Given the description of an element on the screen output the (x, y) to click on. 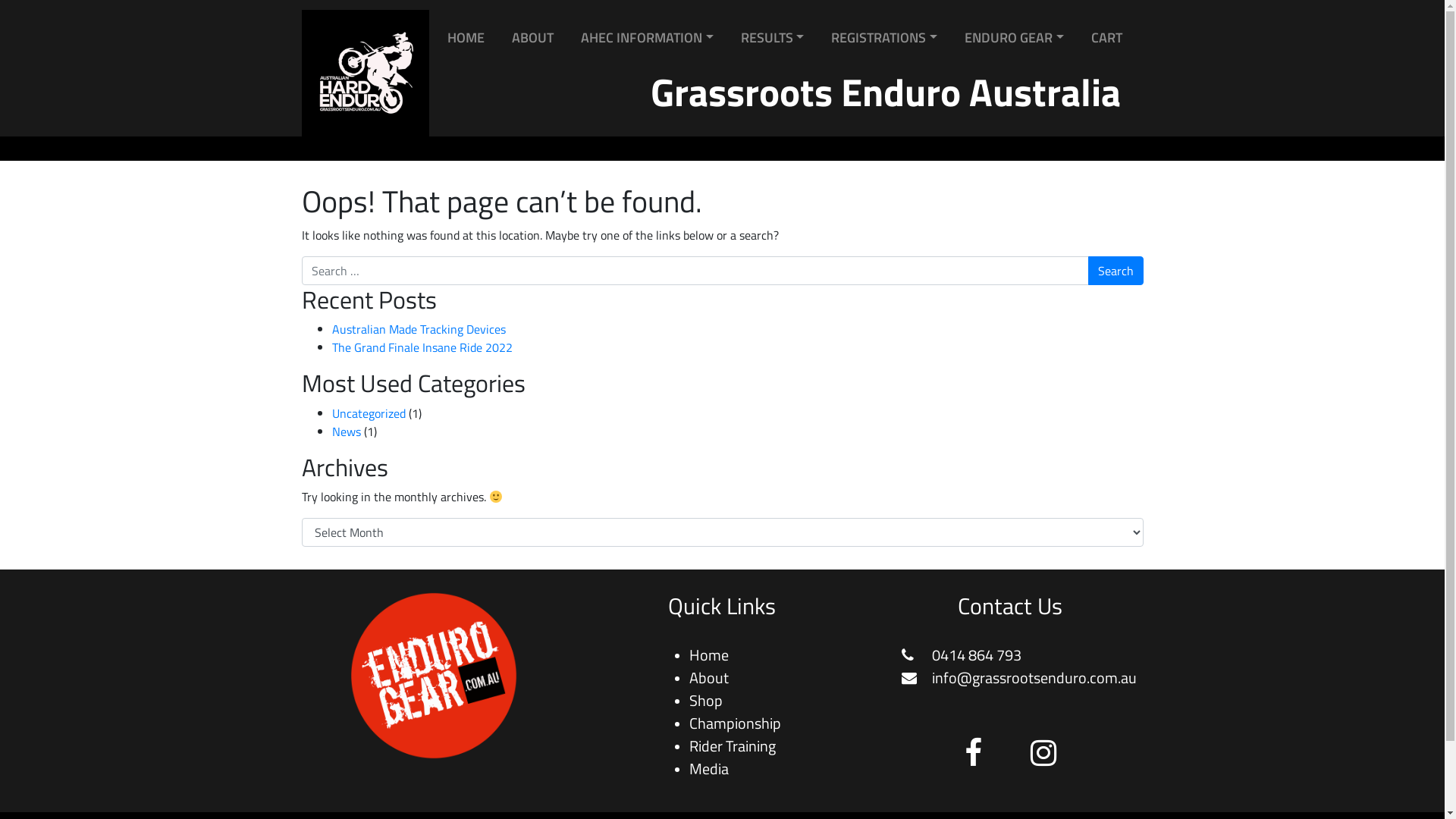
ABOUT Element type: text (532, 37)
RESULTS Element type: text (772, 37)
ENDURO GEAR Element type: text (1014, 37)
About Element type: text (708, 677)
Uncategorized Element type: text (368, 413)
AHEC INFORMATION Element type: text (646, 37)
Search Element type: text (1114, 270)
Media Element type: text (708, 768)
Championship Element type: text (735, 722)
The Grand Finale Insane Ride 2022 Element type: text (422, 347)
Rider Training Element type: text (732, 745)
Shop Element type: text (705, 700)
News Element type: text (346, 431)
Australian Made Tracking Devices Element type: text (418, 329)
HOME Element type: text (465, 37)
info@grassrootsenduro.com.au Element type: text (1018, 677)
REGISTRATIONS Element type: text (884, 37)
Home Element type: text (708, 654)
CART Element type: text (1105, 37)
0414 864 793 Element type: text (961, 654)
